Given the description of an element on the screen output the (x, y) to click on. 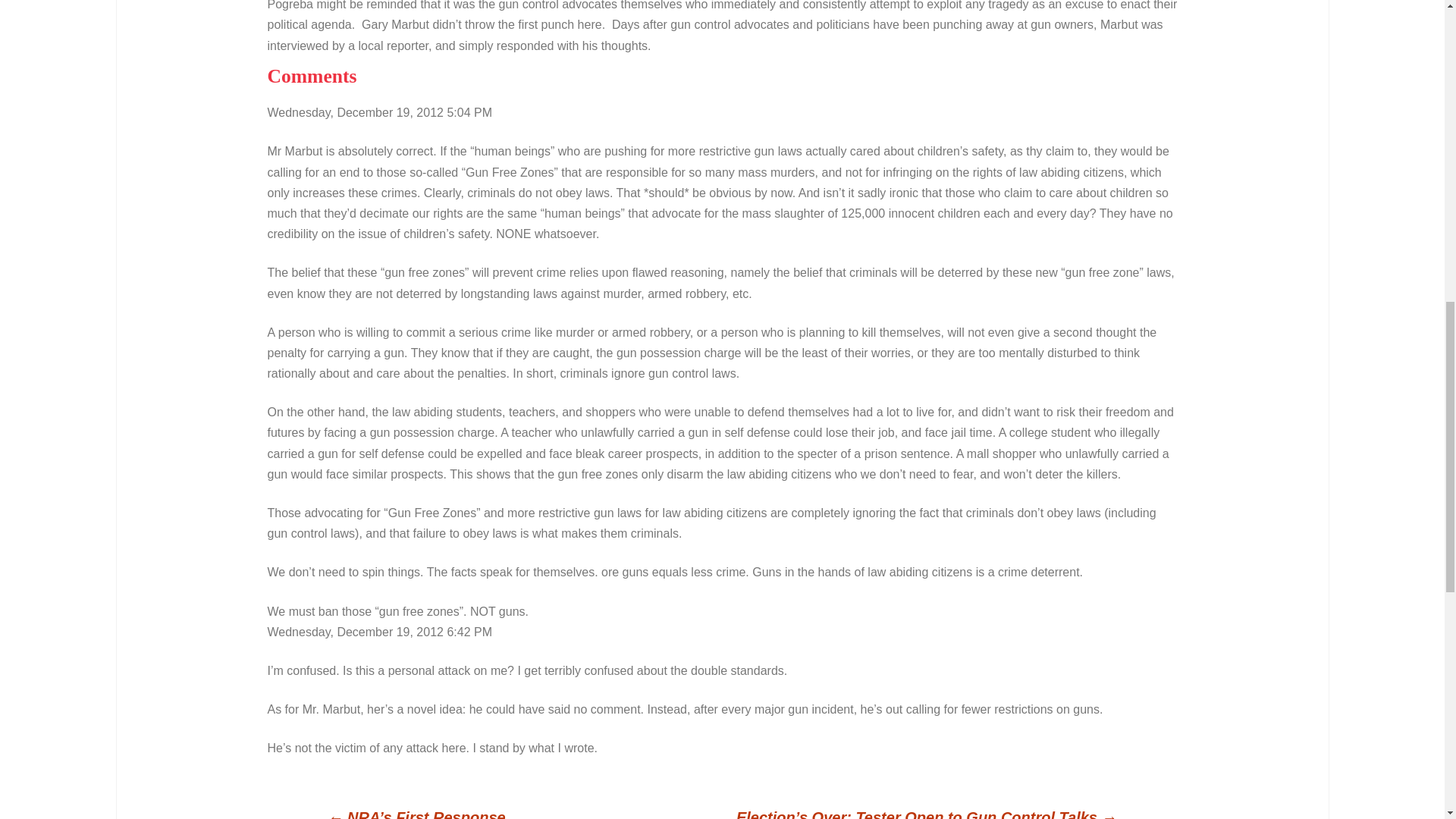
Comments (311, 75)
